Given the description of an element on the screen output the (x, y) to click on. 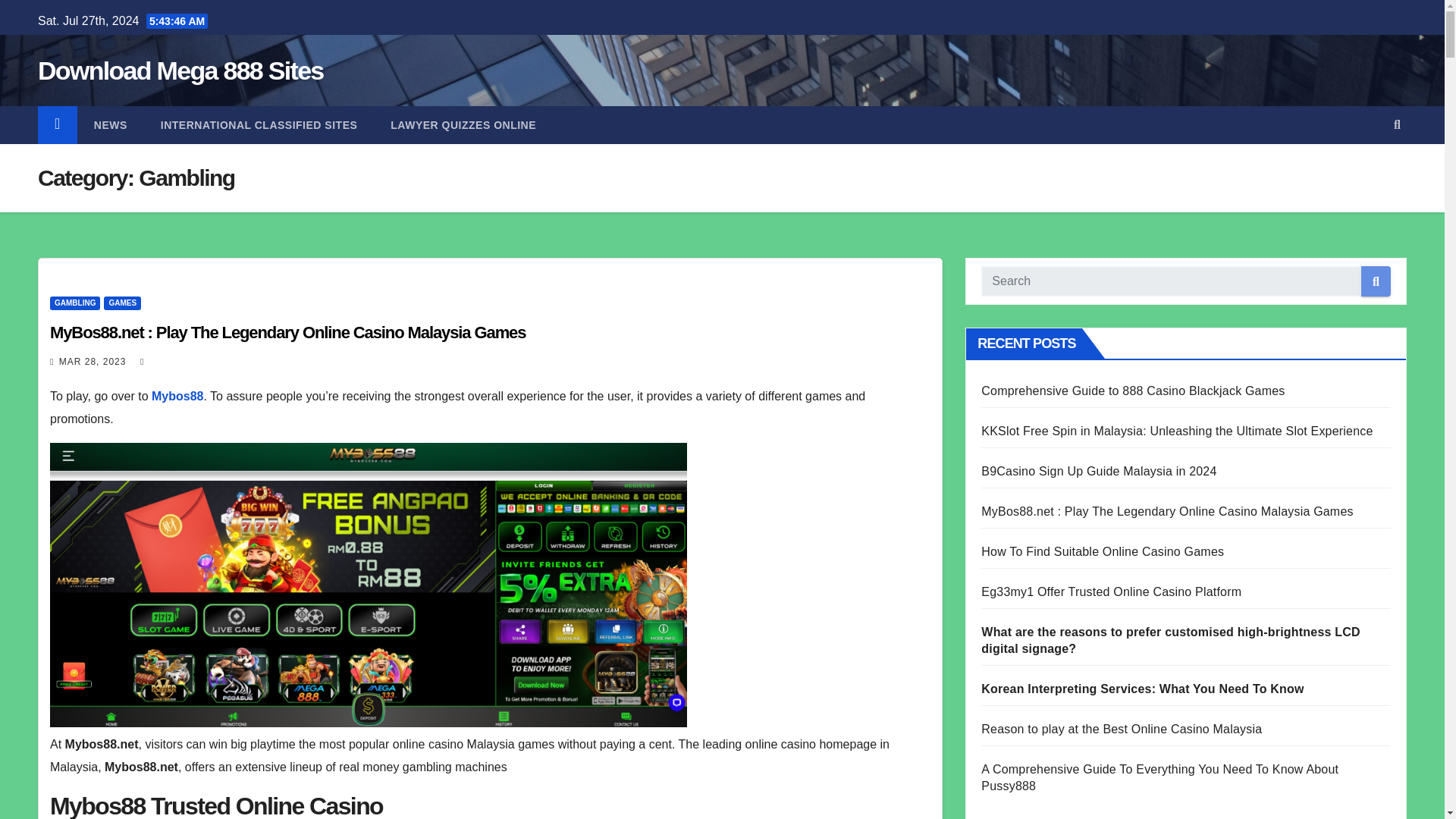
Lawyer Quizzes Online (463, 125)
INTERNATIONAL CLASSIFIED SITES (259, 125)
News (110, 125)
International Classified Sites (259, 125)
GAMBLING (74, 303)
GAMES (122, 303)
LAWYER QUIZZES ONLINE (463, 125)
NEWS (110, 125)
Mybos88 (177, 395)
MAR 28, 2023 (92, 361)
Download Mega 888 Sites (180, 70)
